Given the description of an element on the screen output the (x, y) to click on. 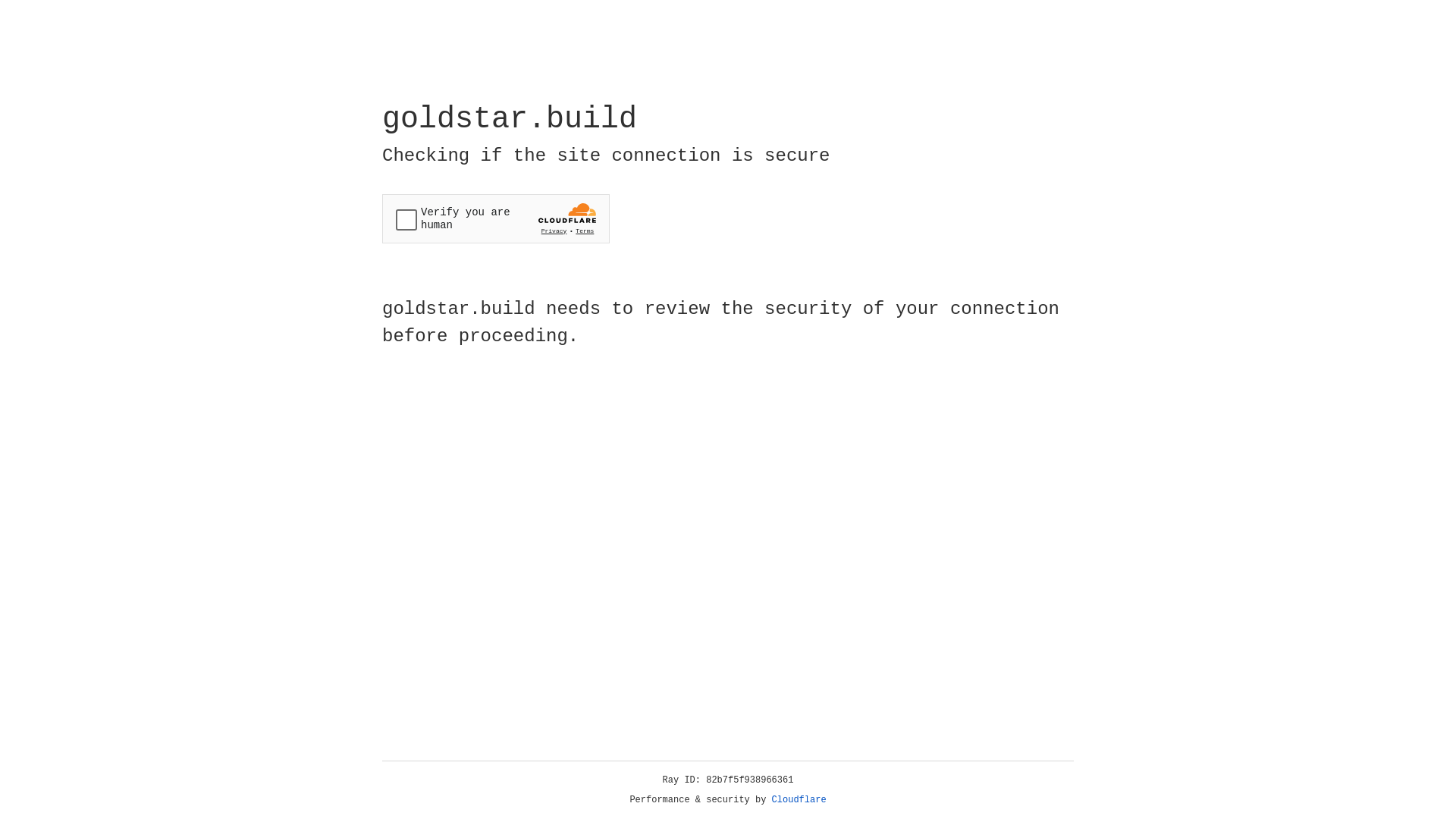
Widget containing a Cloudflare security challenge Element type: hover (495, 218)
Cloudflare Element type: text (798, 799)
